Given the description of an element on the screen output the (x, y) to click on. 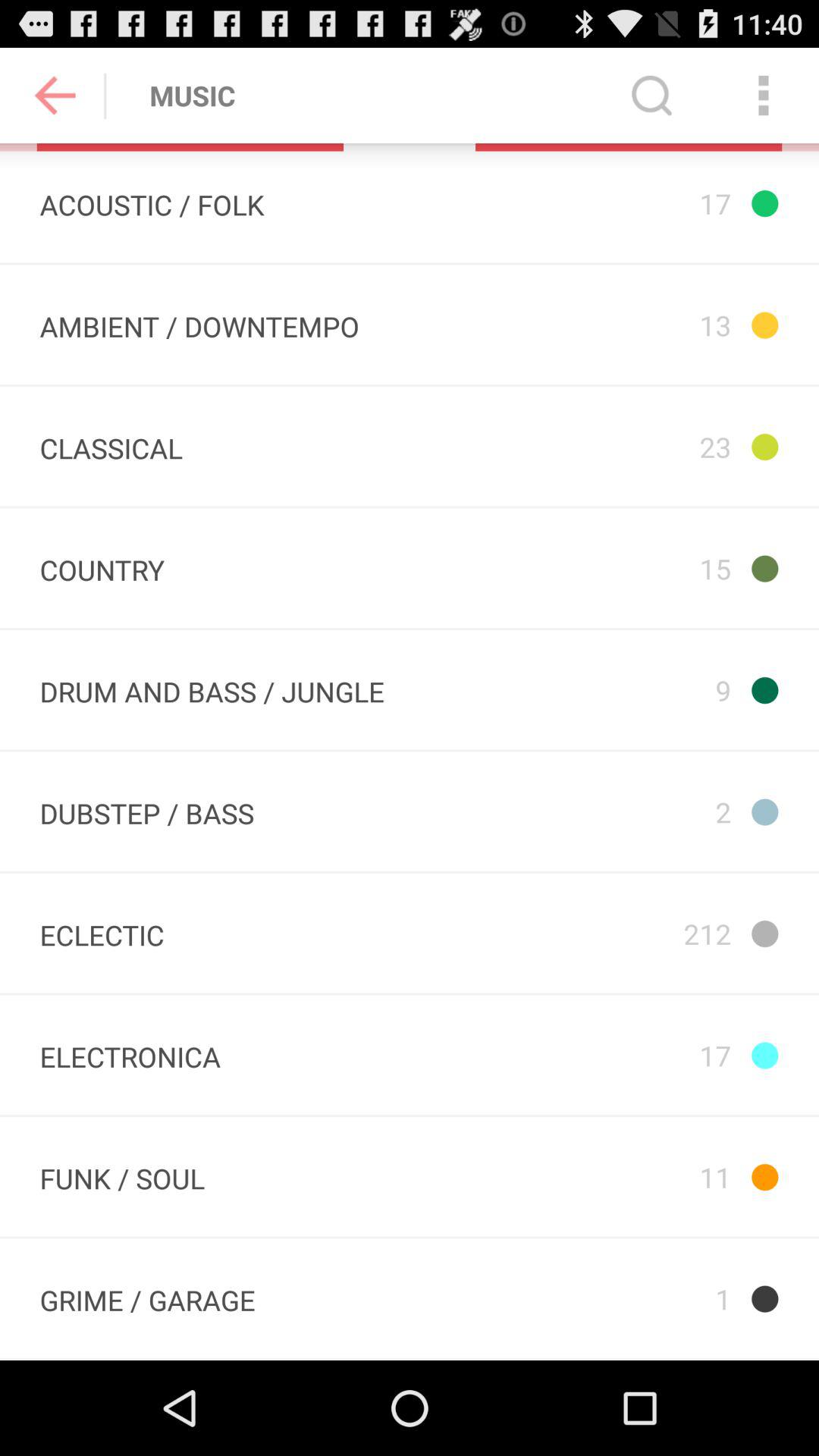
open the app next to 15 app (212, 689)
